Given the description of an element on the screen output the (x, y) to click on. 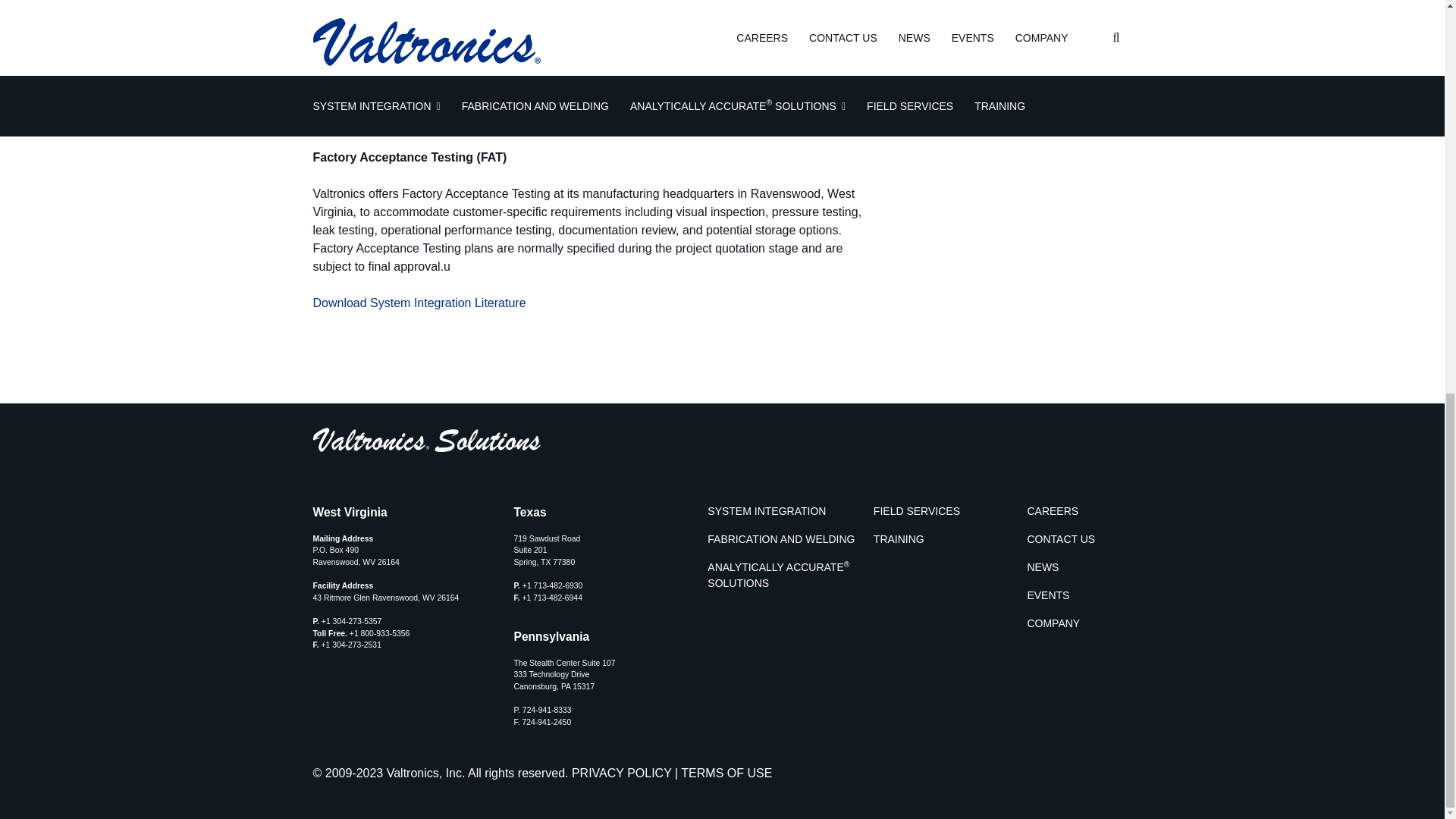
FIELD SERVICES (950, 511)
TRAINING (950, 539)
EVENTS (1078, 595)
PRIVACY POLICY (621, 772)
CONTACT US (1078, 539)
TERMS OF USE (726, 772)
FABRICATION AND WELDING (784, 539)
CAREERS (1078, 511)
NEWS (1078, 567)
COMPANY (1078, 623)
Download System Integration Literature (419, 302)
VALTRONICS (354, 441)
SYSTEM INTEGRATION (784, 511)
